Given the description of an element on the screen output the (x, y) to click on. 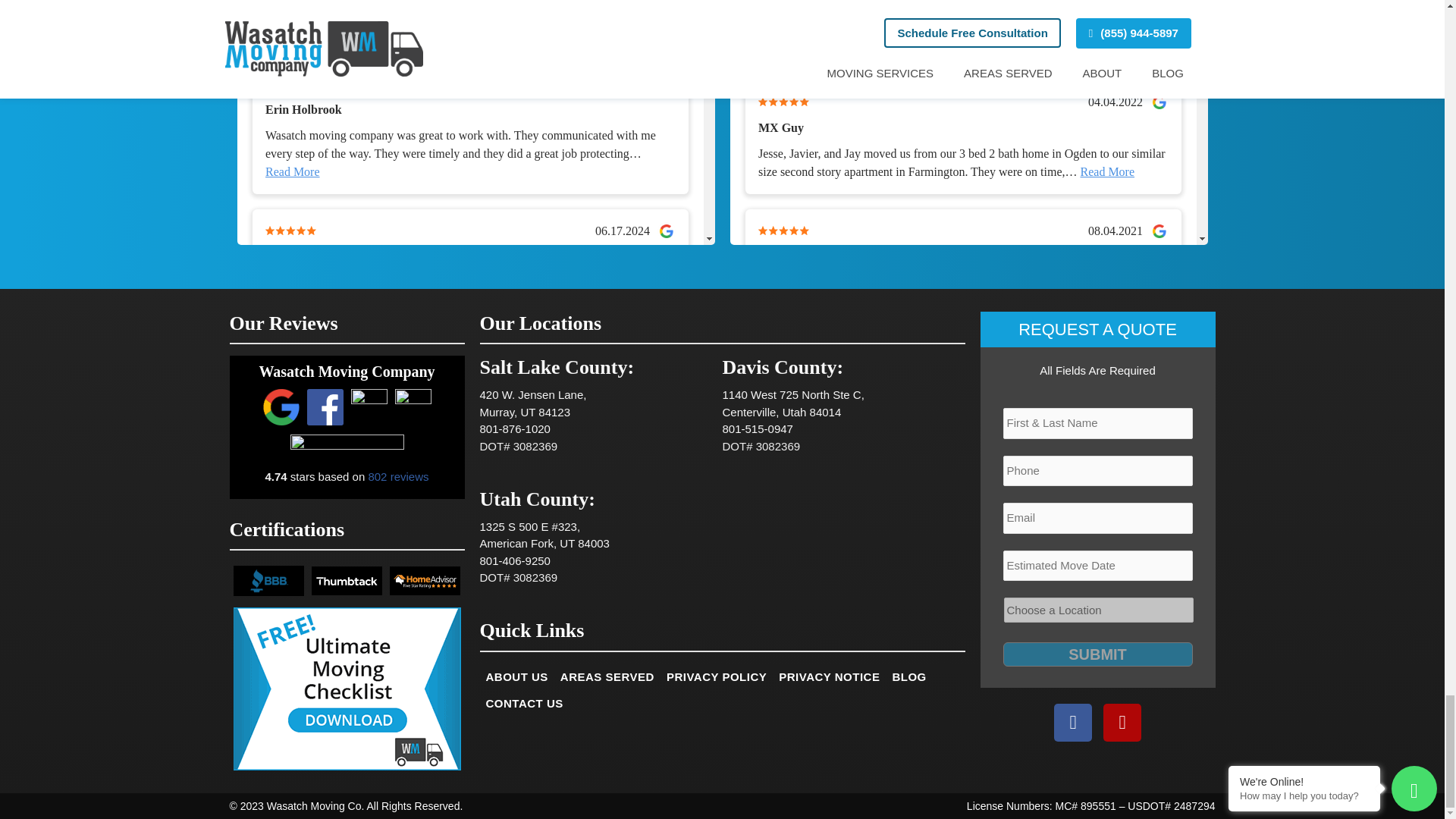
Submit (1097, 654)
